Given the description of an element on the screen output the (x, y) to click on. 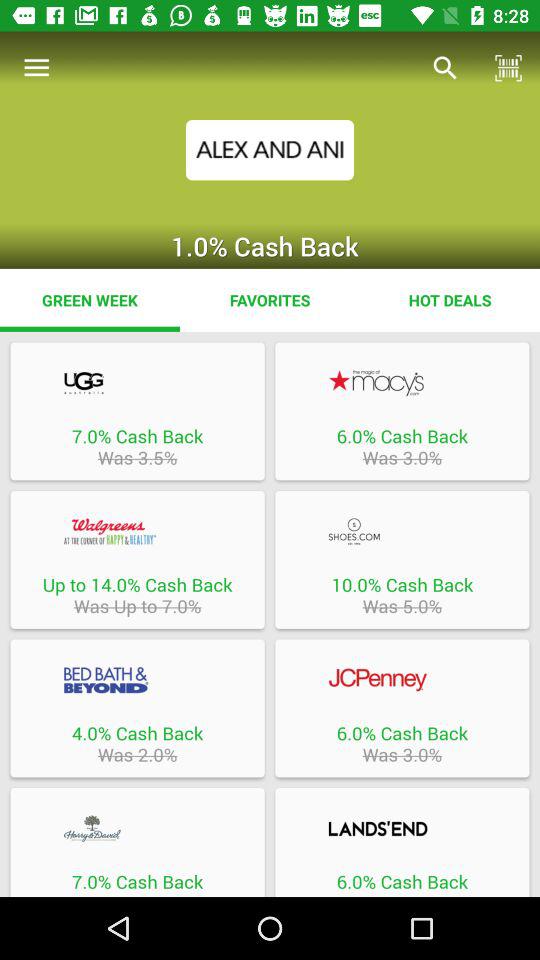
buying option (137, 382)
